Given the description of an element on the screen output the (x, y) to click on. 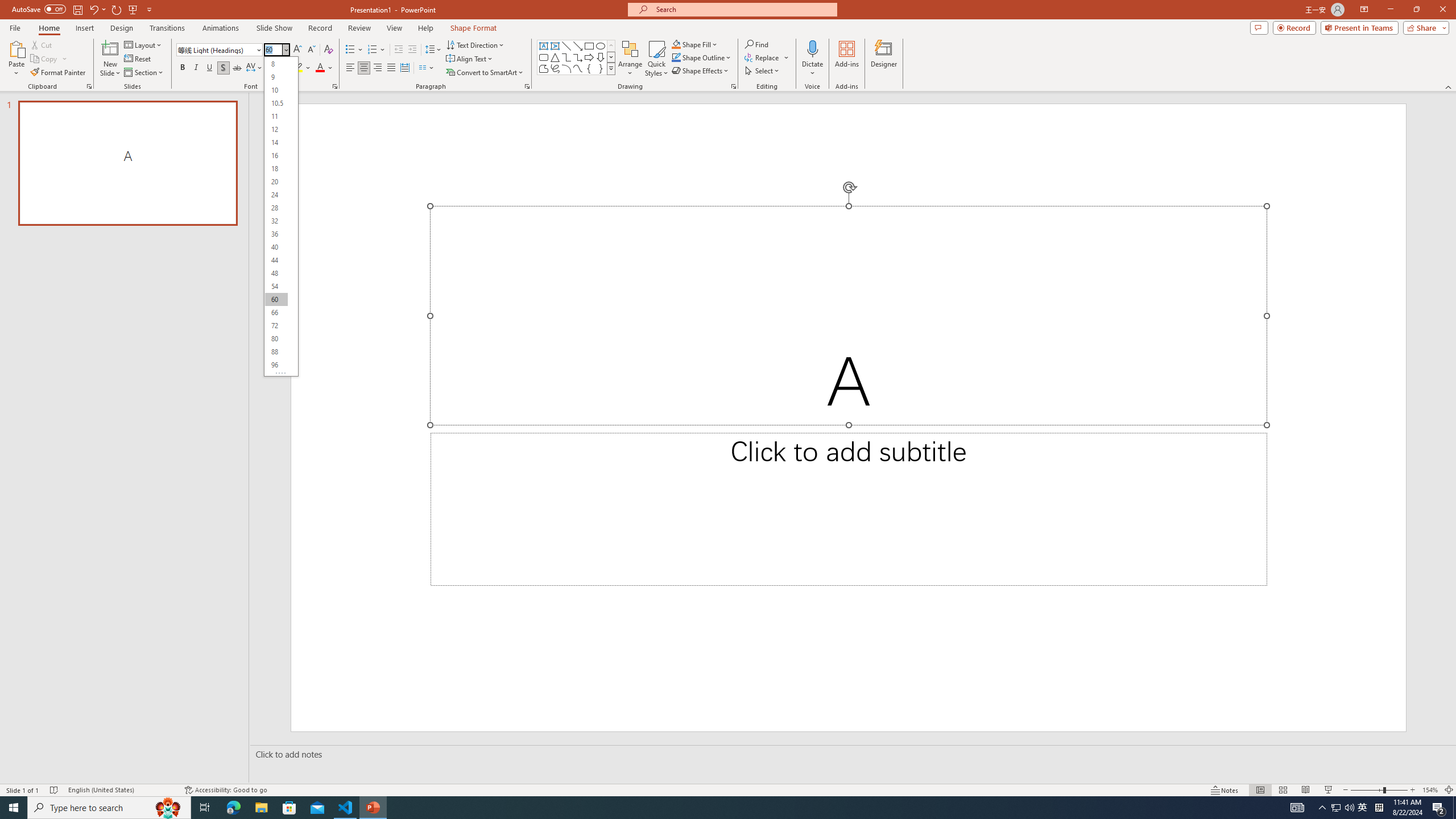
Class: NetUIScrollBar (292, 214)
66 (276, 312)
